Given the description of an element on the screen output the (x, y) to click on. 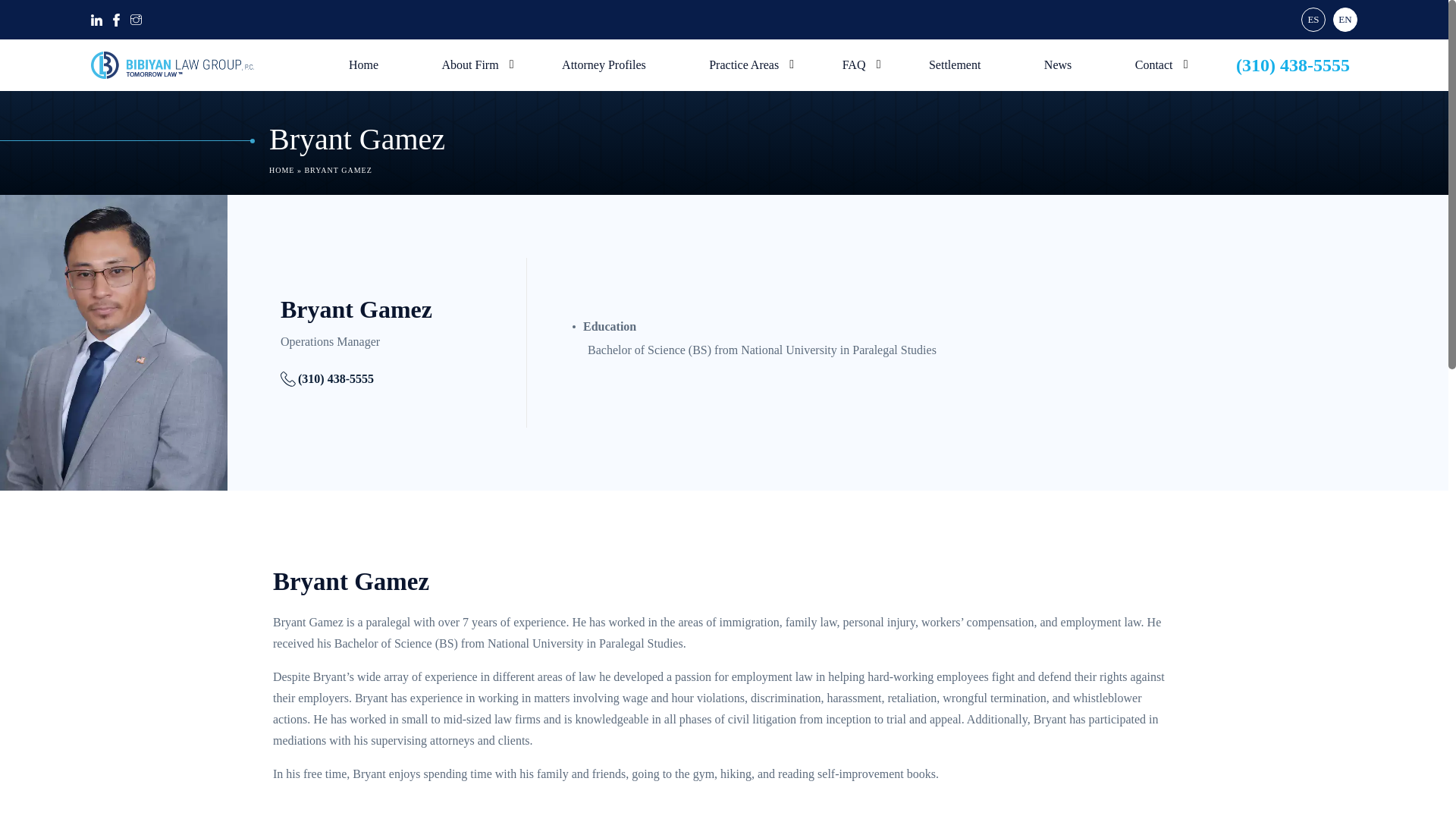
HOME (281, 170)
About Firm (469, 64)
Attorney Profiles (603, 64)
Contact (1153, 64)
Practice Areas (743, 64)
Settlement (954, 64)
EN (1344, 19)
ES (1312, 19)
